Given the description of an element on the screen output the (x, y) to click on. 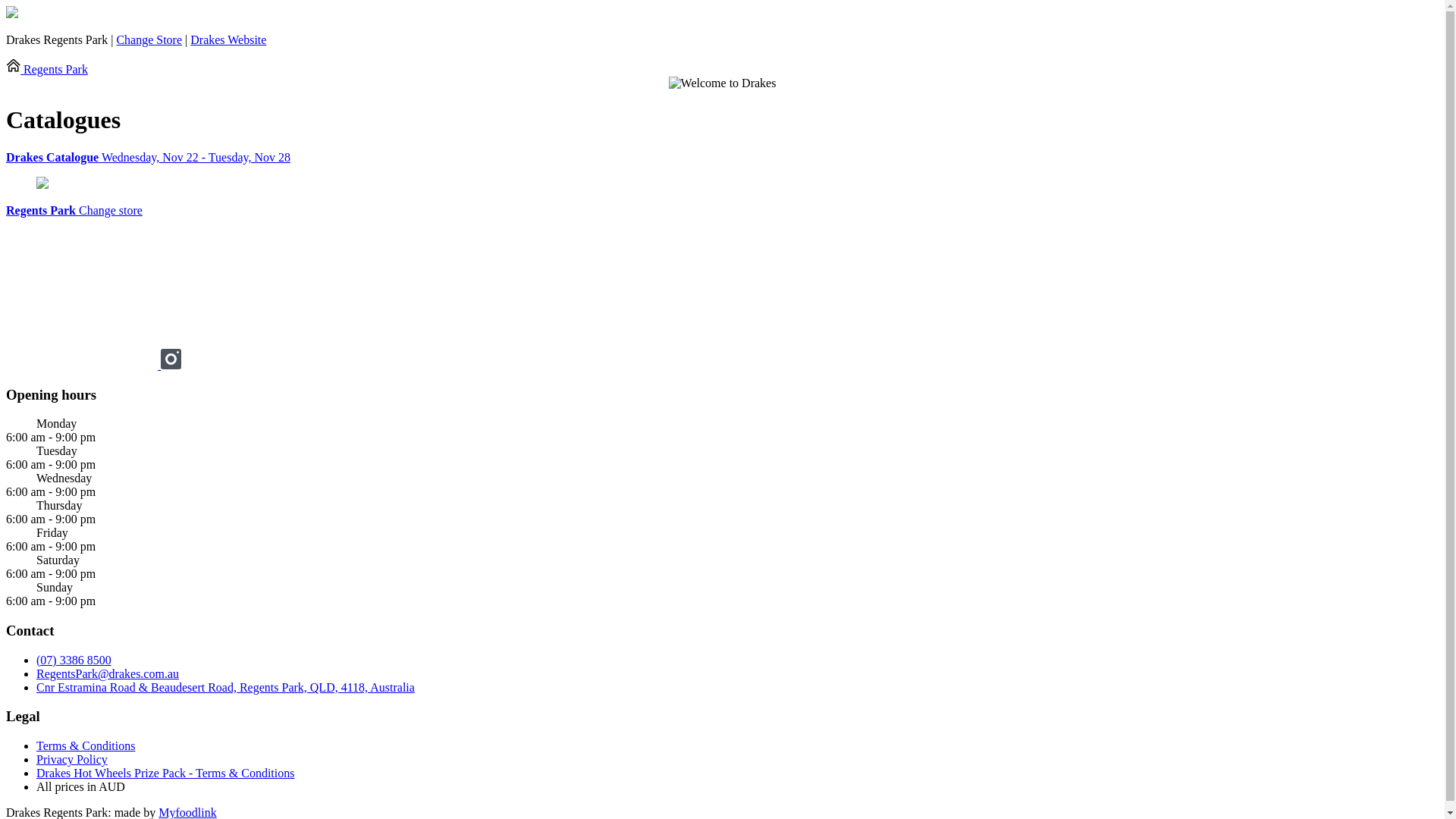
Privacy Policy Element type: text (71, 759)
Instagram drakessupermarkets Element type: hover (170, 364)
Facebook Element type: hover (83, 364)
Drakes Website Element type: text (228, 39)
Drakes Catalogue Wednesday, Nov 22 - Tuesday, Nov 28 Element type: text (722, 156)
Regents Park Element type: text (46, 68)
RegentsPark@drakes.com.au Element type: text (107, 673)
(07) 3386 8500 Element type: text (73, 659)
Terms & Conditions Element type: text (85, 745)
Regents Park Change store Element type: text (74, 209)
Change Store Element type: text (149, 39)
Drakes Hot Wheels Prize Pack - Terms & Conditions Element type: text (165, 772)
